Given the description of an element on the screen output the (x, y) to click on. 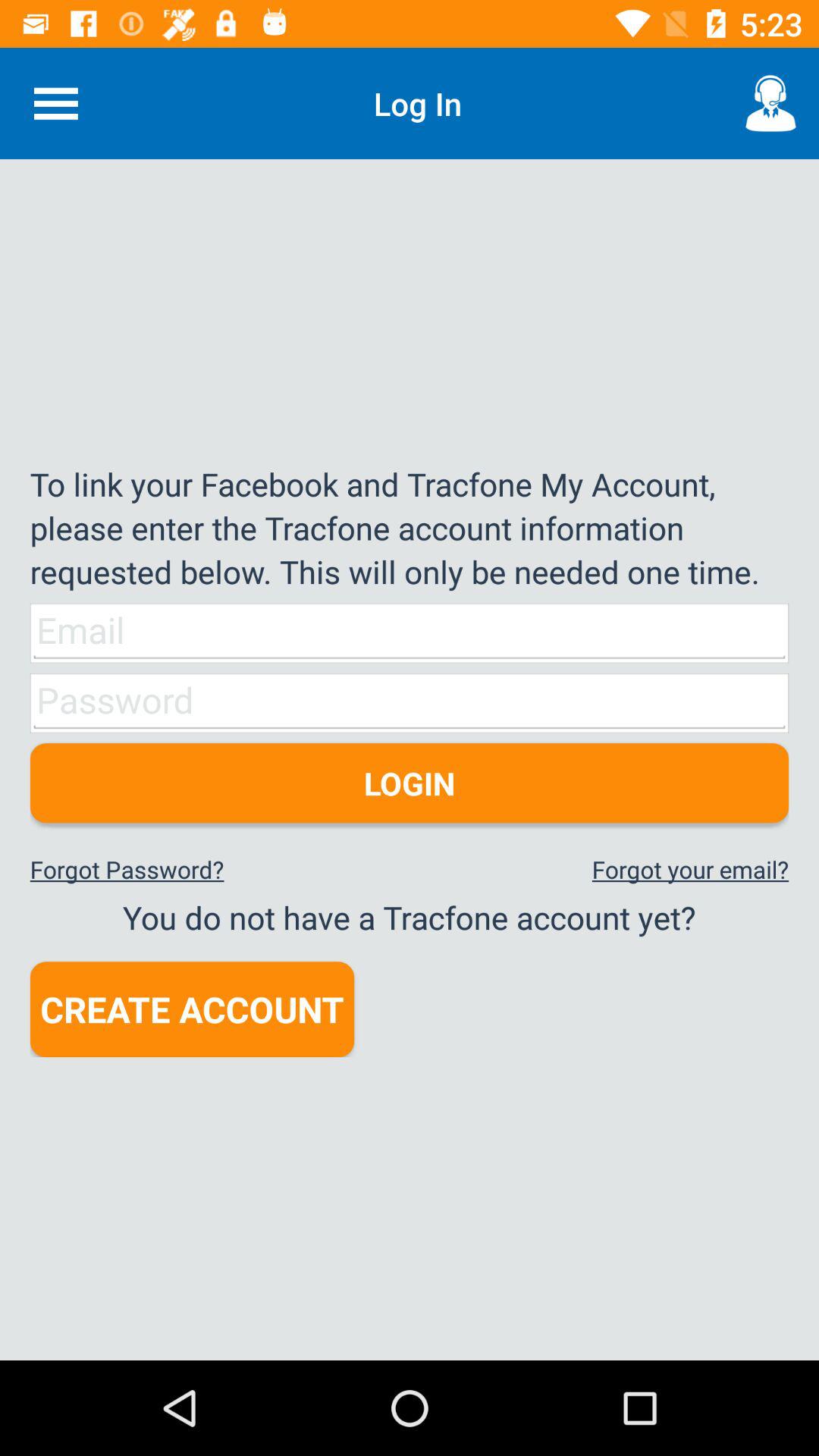
swipe to the forgot your email? icon (690, 869)
